Given the description of an element on the screen output the (x, y) to click on. 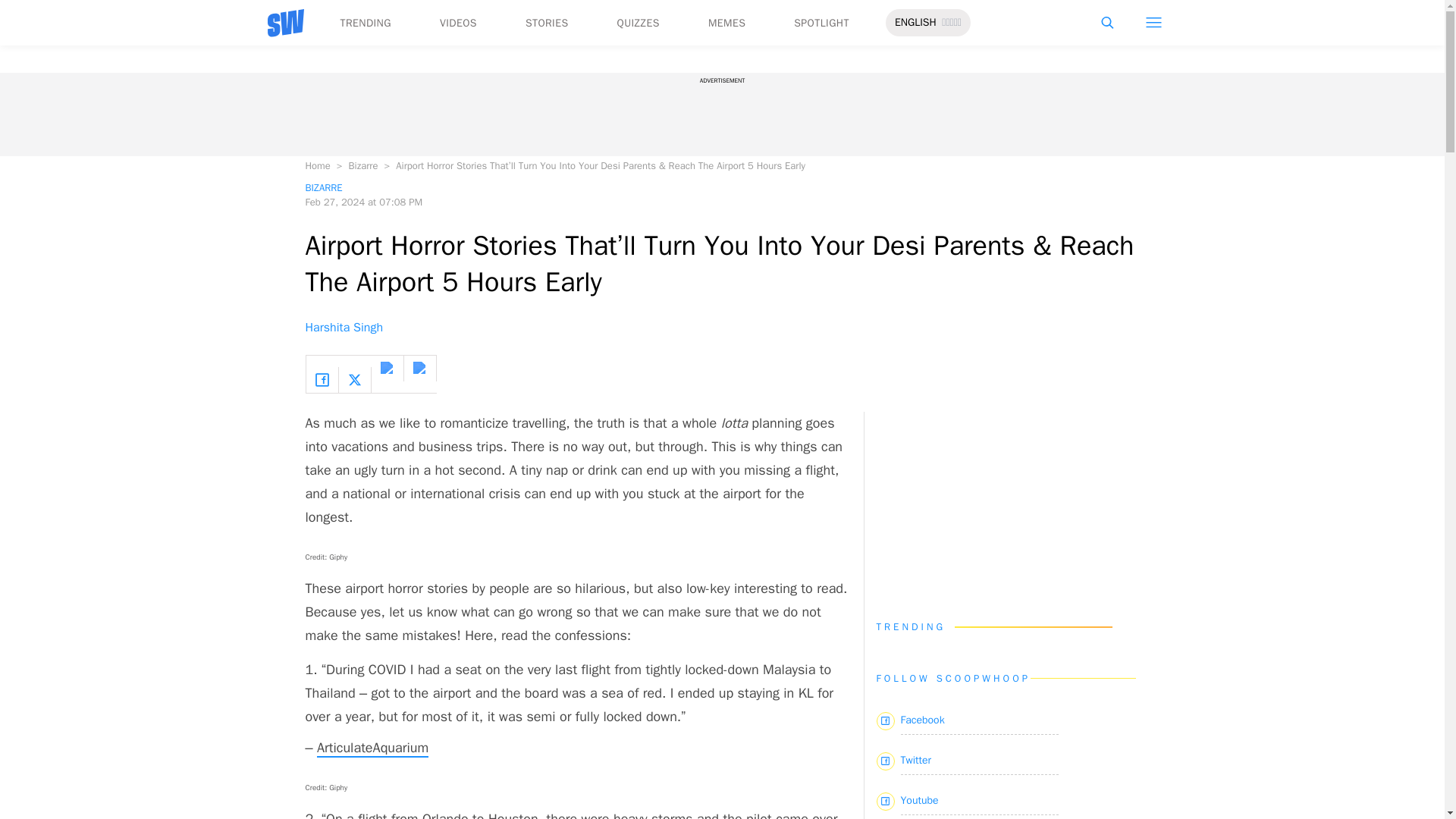
QUIZZES (638, 22)
VIDEOS (458, 22)
MEMES (726, 22)
STORIES (547, 22)
SPOTLIGHT (820, 22)
TRENDING (364, 22)
ENGLISH (915, 22)
